Given the description of an element on the screen output the (x, y) to click on. 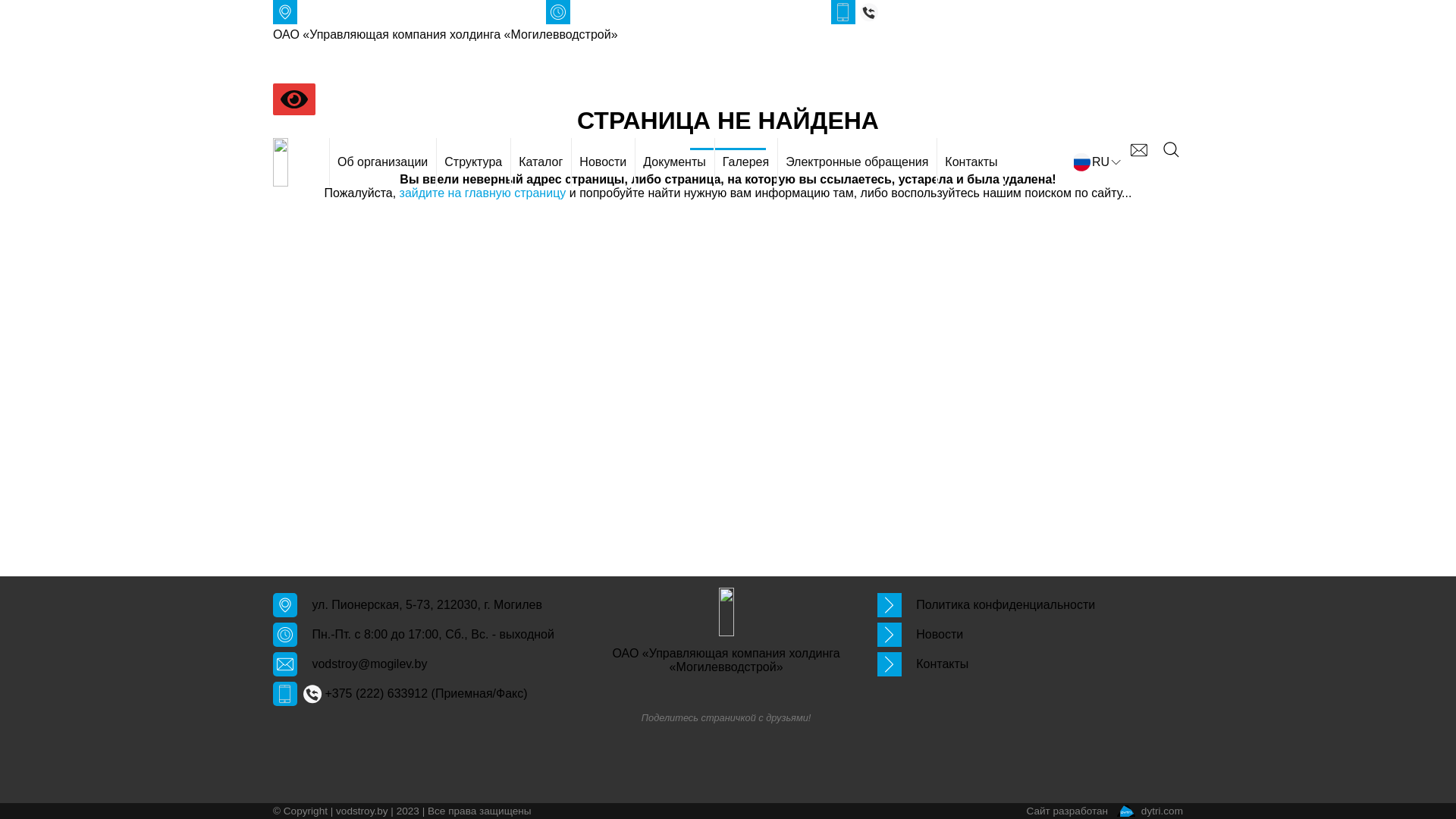
dytri.com Element type: text (1150, 810)
